Given the description of an element on the screen output the (x, y) to click on. 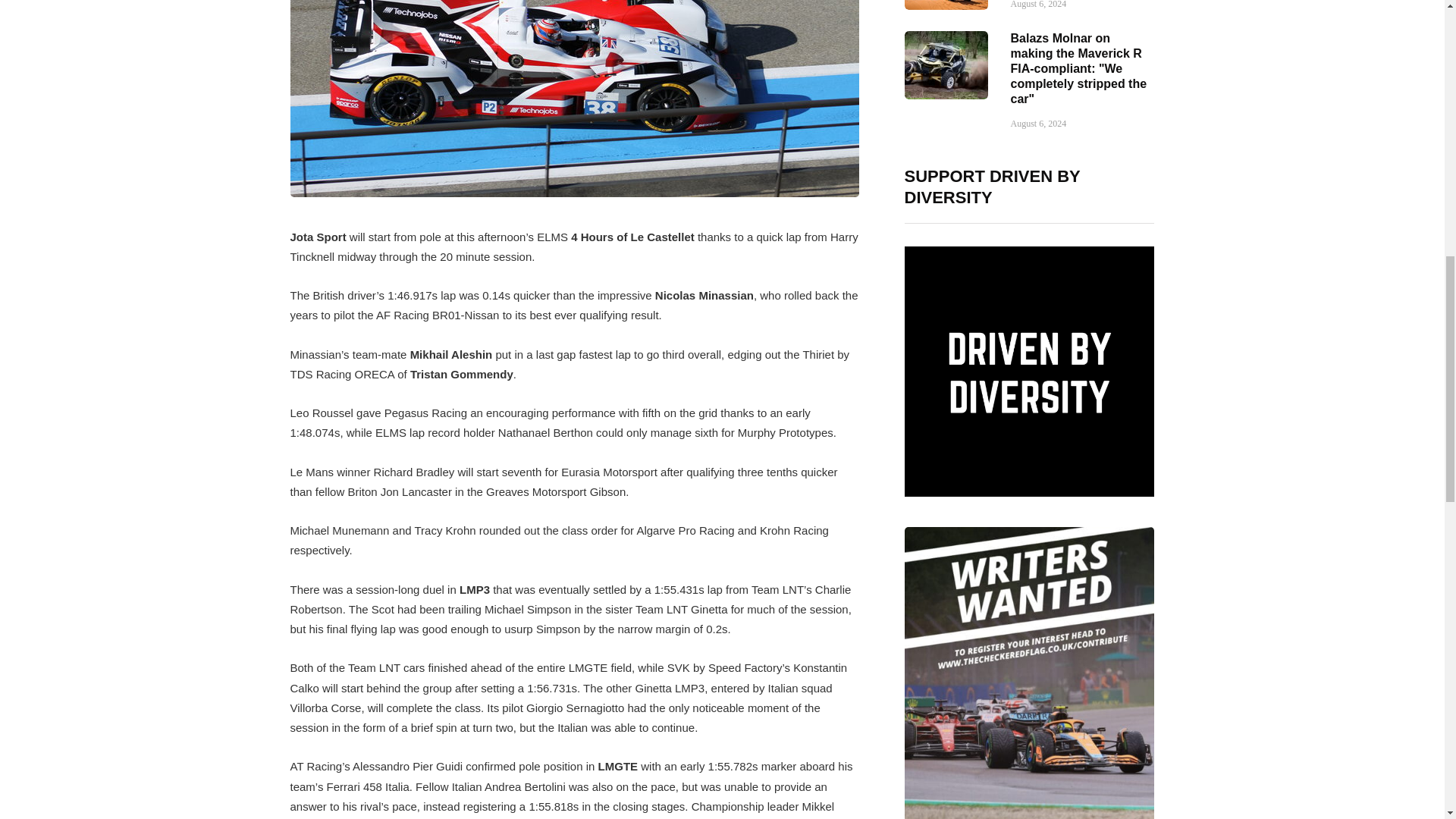
Support Driven by Diversity (1029, 371)
